Given the description of an element on the screen output the (x, y) to click on. 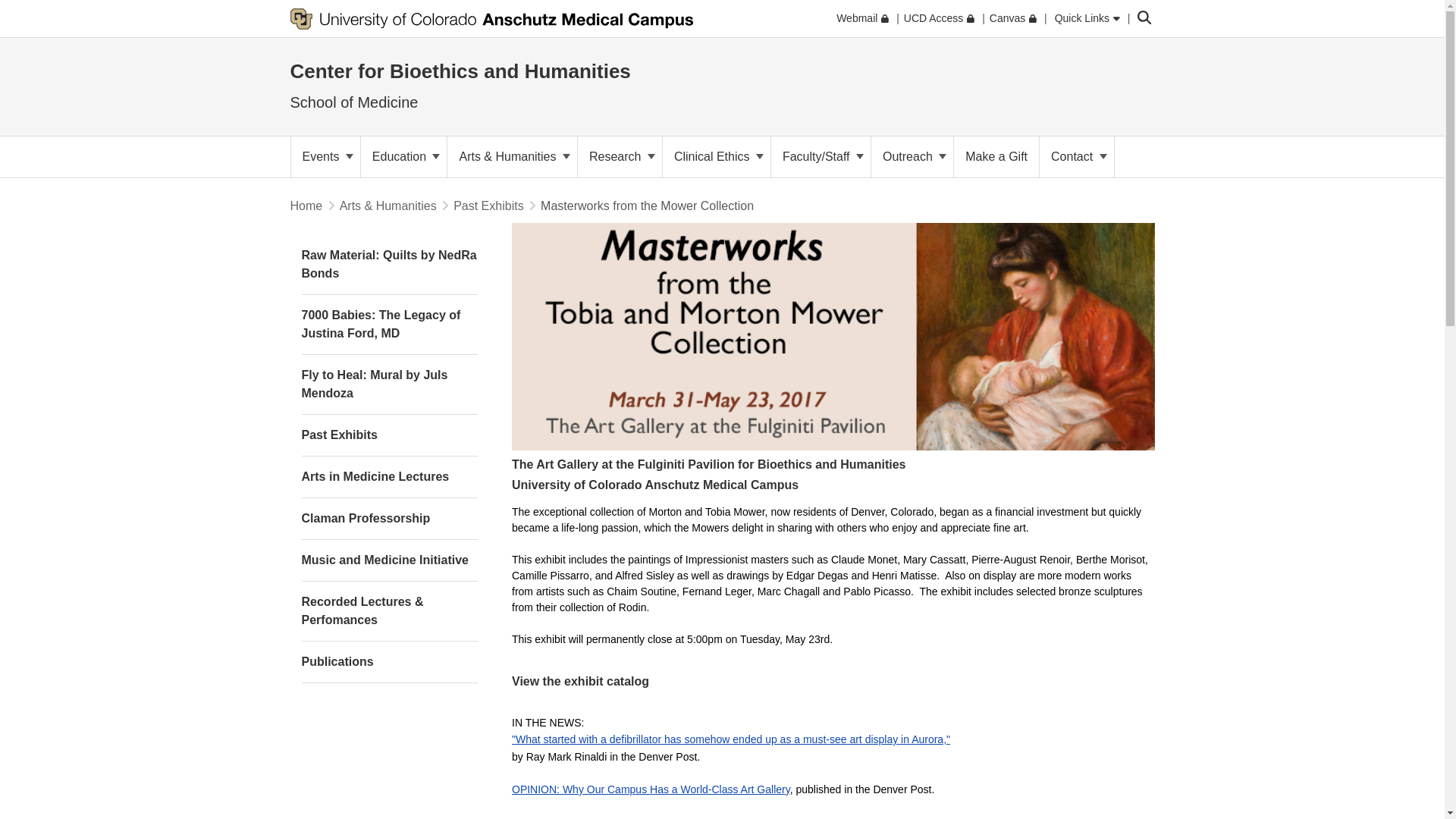
Center for Bioethics and Humanities (459, 70)
Webmail (861, 18)
Events (325, 156)
Canvas (1013, 18)
Education (403, 156)
UCD Access (939, 18)
Quick Links (1086, 18)
School of Medicine (353, 102)
